Given the description of an element on the screen output the (x, y) to click on. 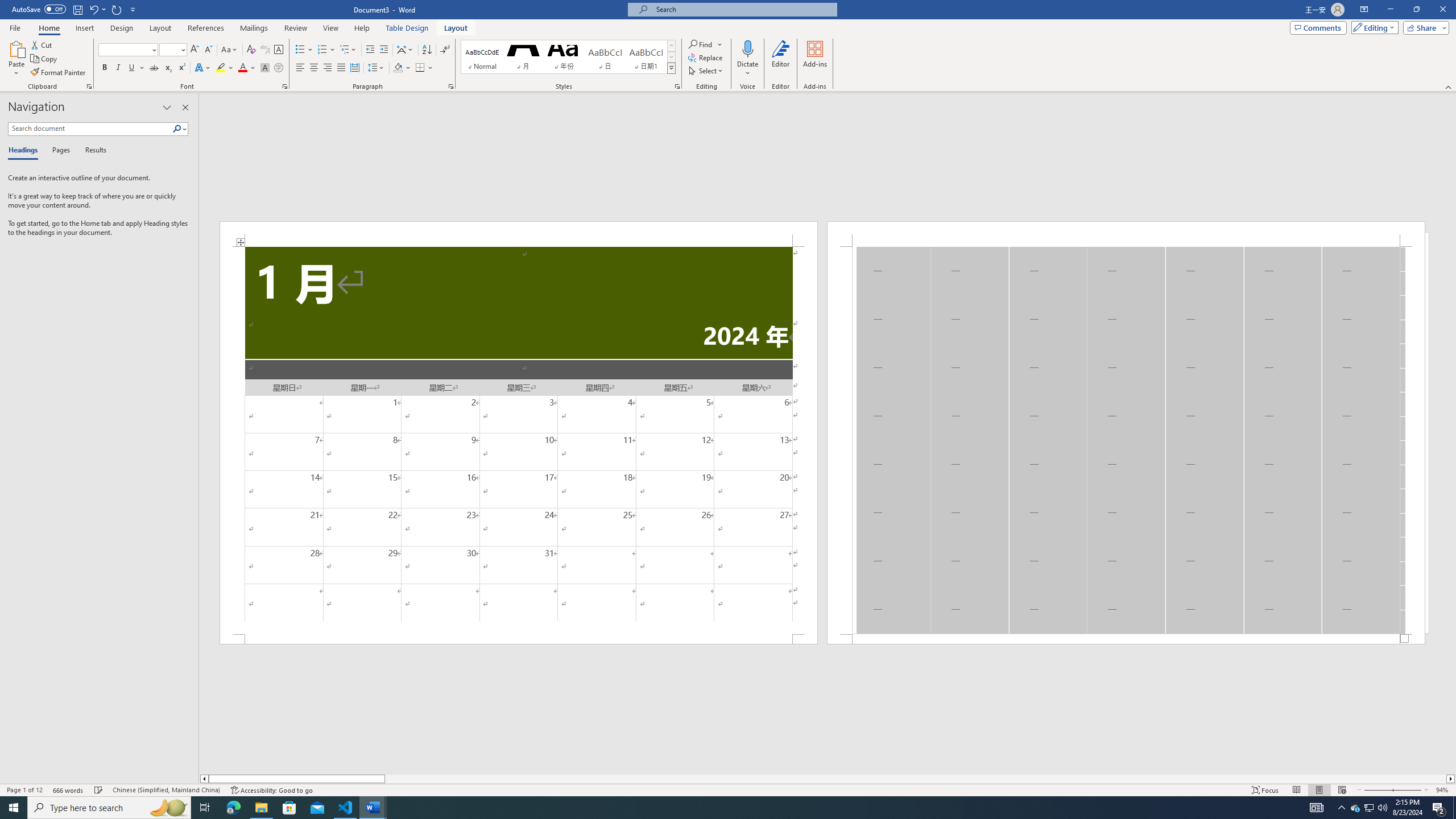
Accessibility Checker Accessibility: Good to go (271, 790)
Replace... (705, 56)
Column left (203, 778)
Page 1 content (518, 439)
